Given the description of an element on the screen output the (x, y) to click on. 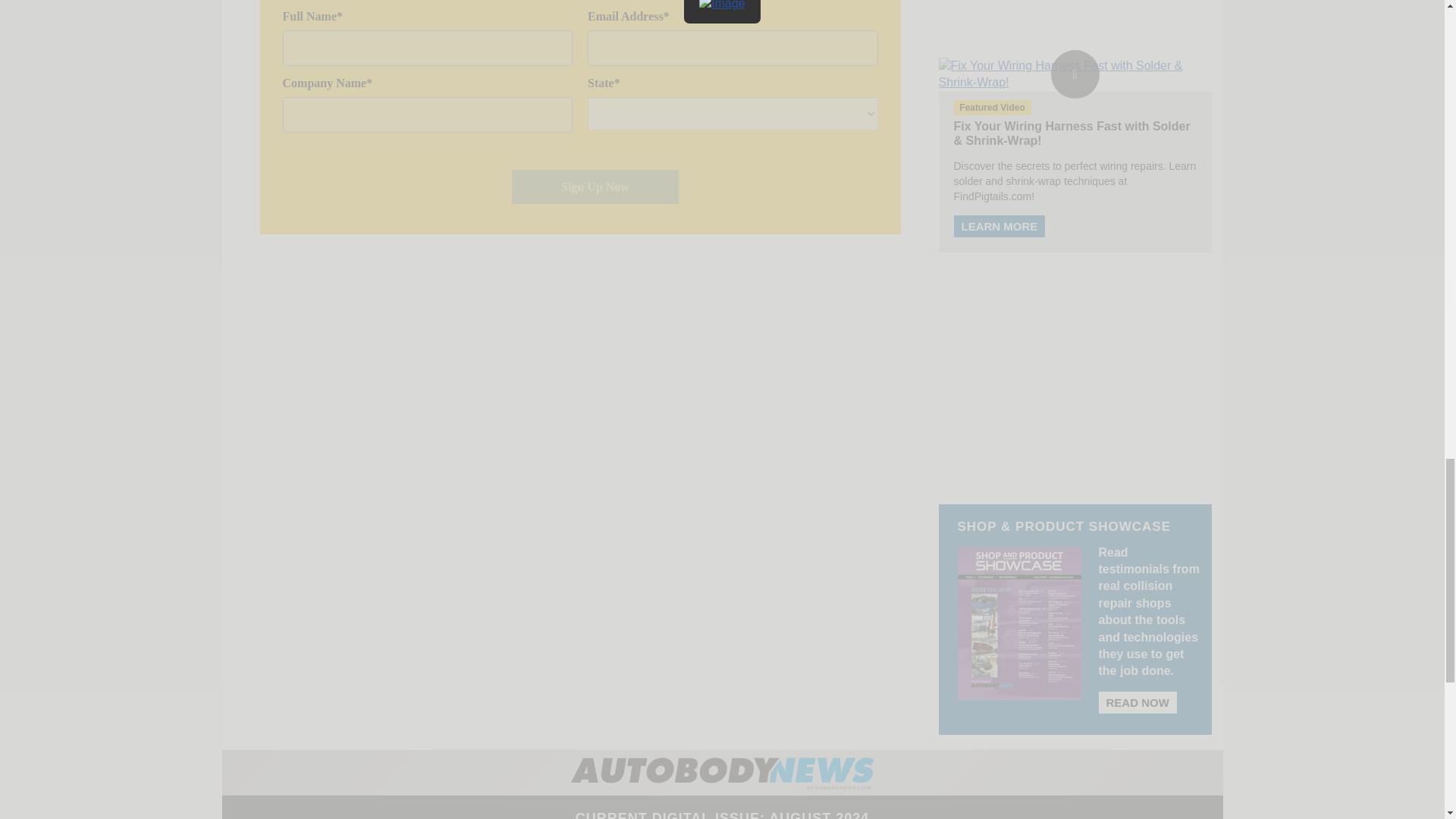
3rd party ad content (1074, 9)
Watch Now (1075, 74)
3rd party ad content (1074, 370)
